Given the description of an element on the screen output the (x, y) to click on. 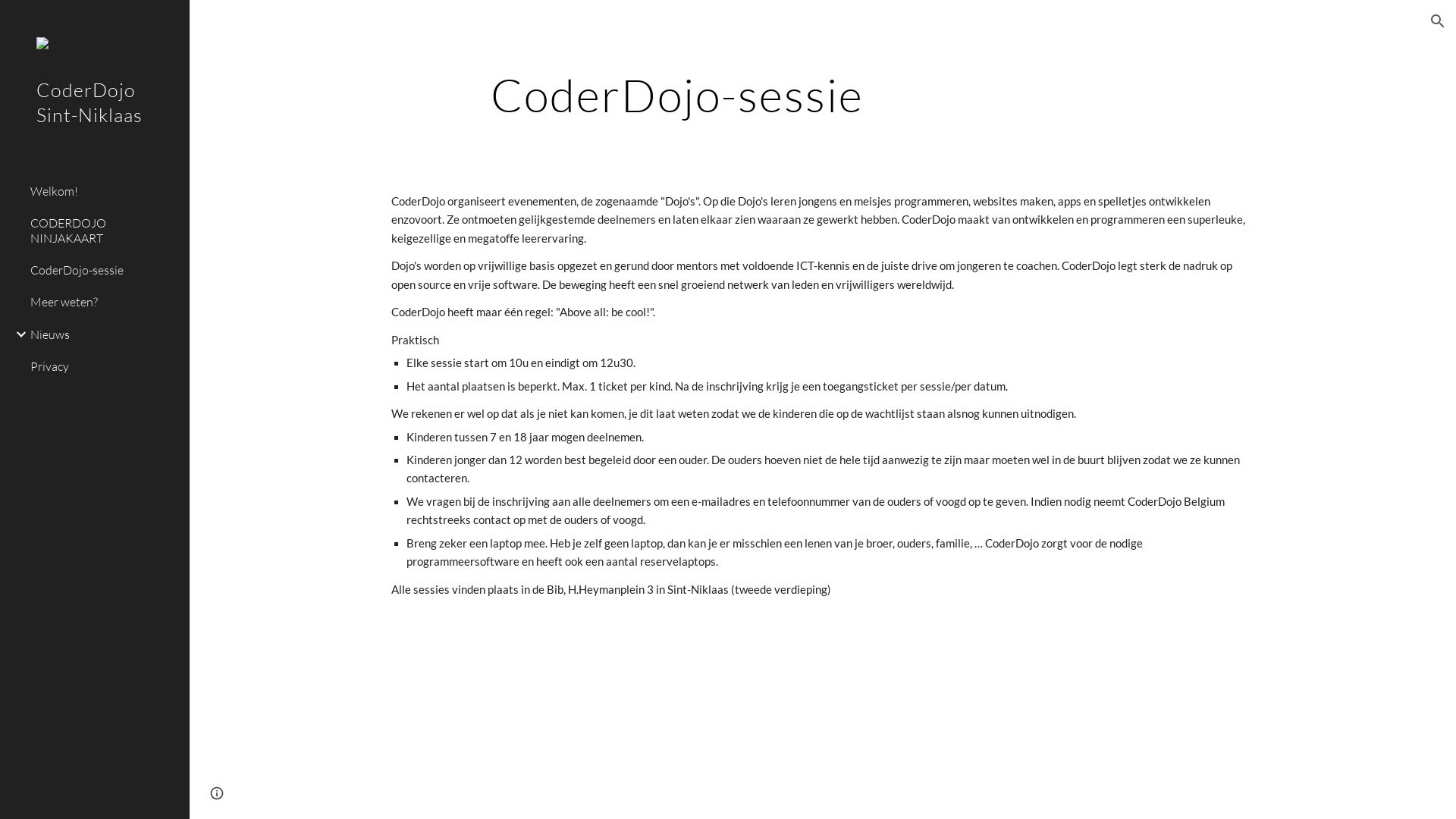
CODERDOJO NINJAKAART Element type: text (103, 230)
Welkom! Element type: text (103, 191)
Privacy Element type: text (103, 366)
Nieuws Element type: text (103, 334)
Expand/Collapse Element type: hover (16, 334)
Meer weten? Element type: text (103, 302)
CoderDojo Sint-Niklaas Element type: text (94, 122)
CoderDojo-sessie Element type: text (103, 269)
